Given the description of an element on the screen output the (x, y) to click on. 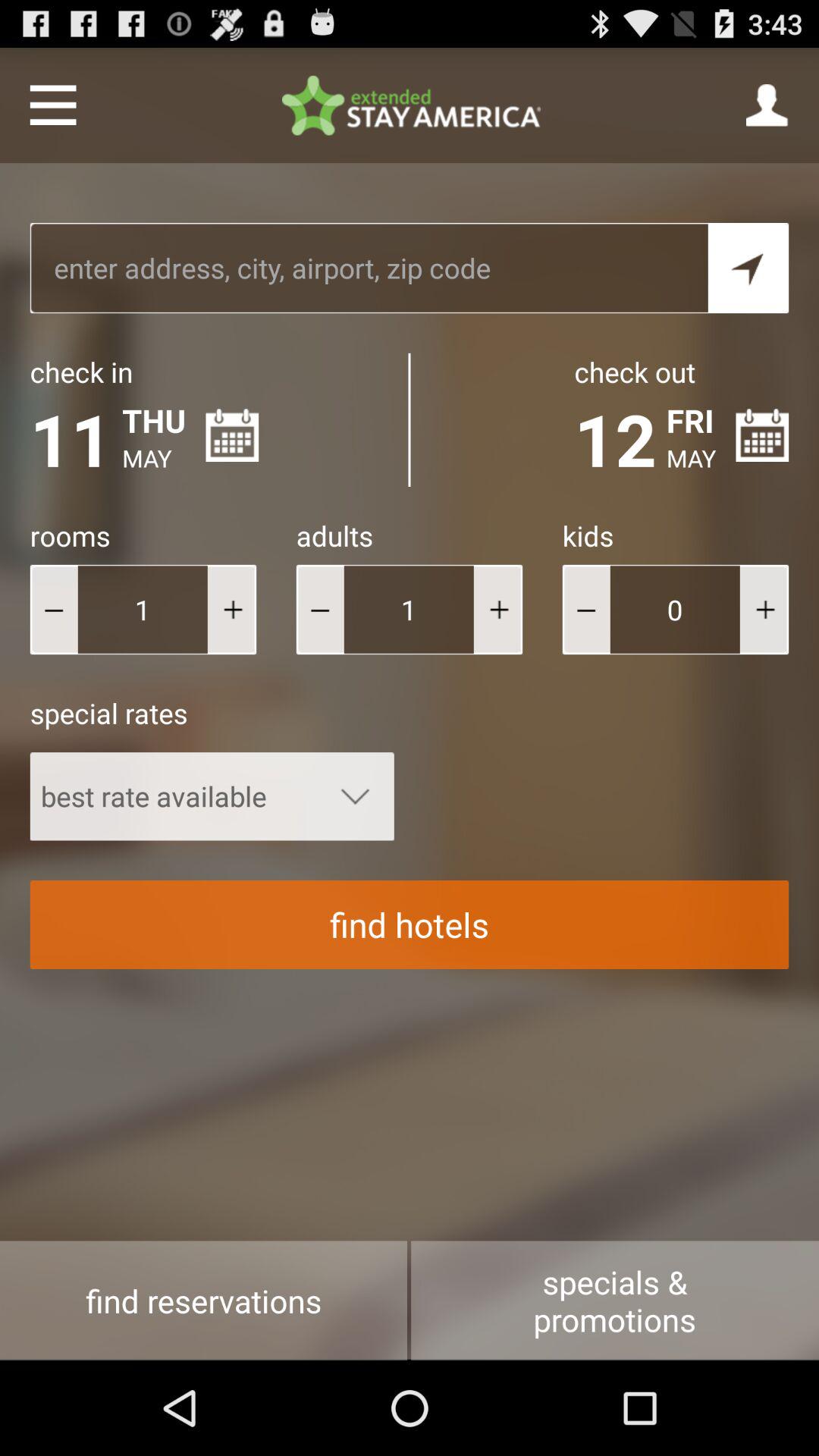
increase number of children for stay (763, 609)
